Given the description of an element on the screen output the (x, y) to click on. 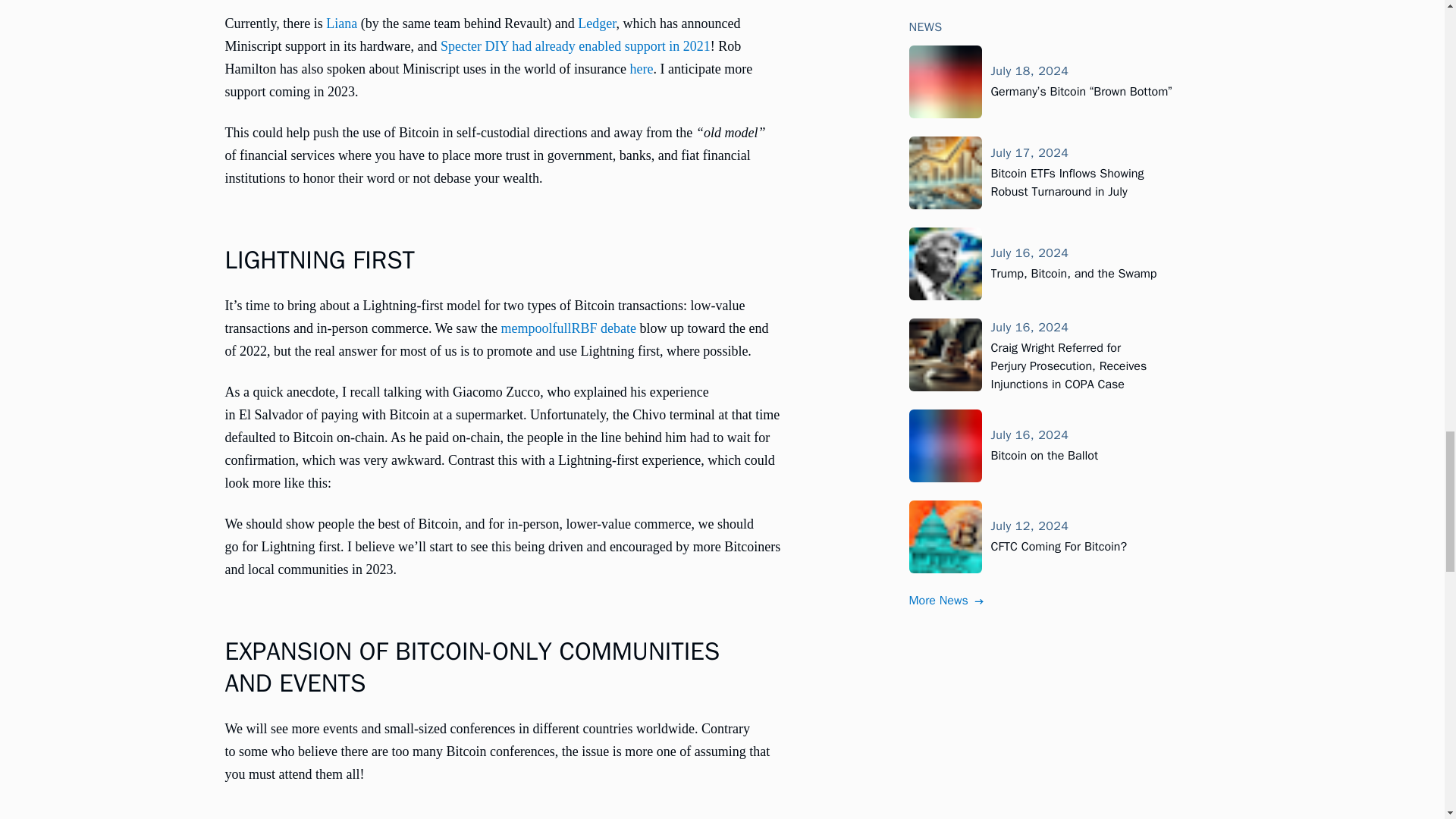
Specter DIY had already enabled support in 2021 (575, 46)
Ledger (596, 23)
Liana (341, 23)
here (640, 68)
mempoolfullRBF debate (568, 328)
